Given the description of an element on the screen output the (x, y) to click on. 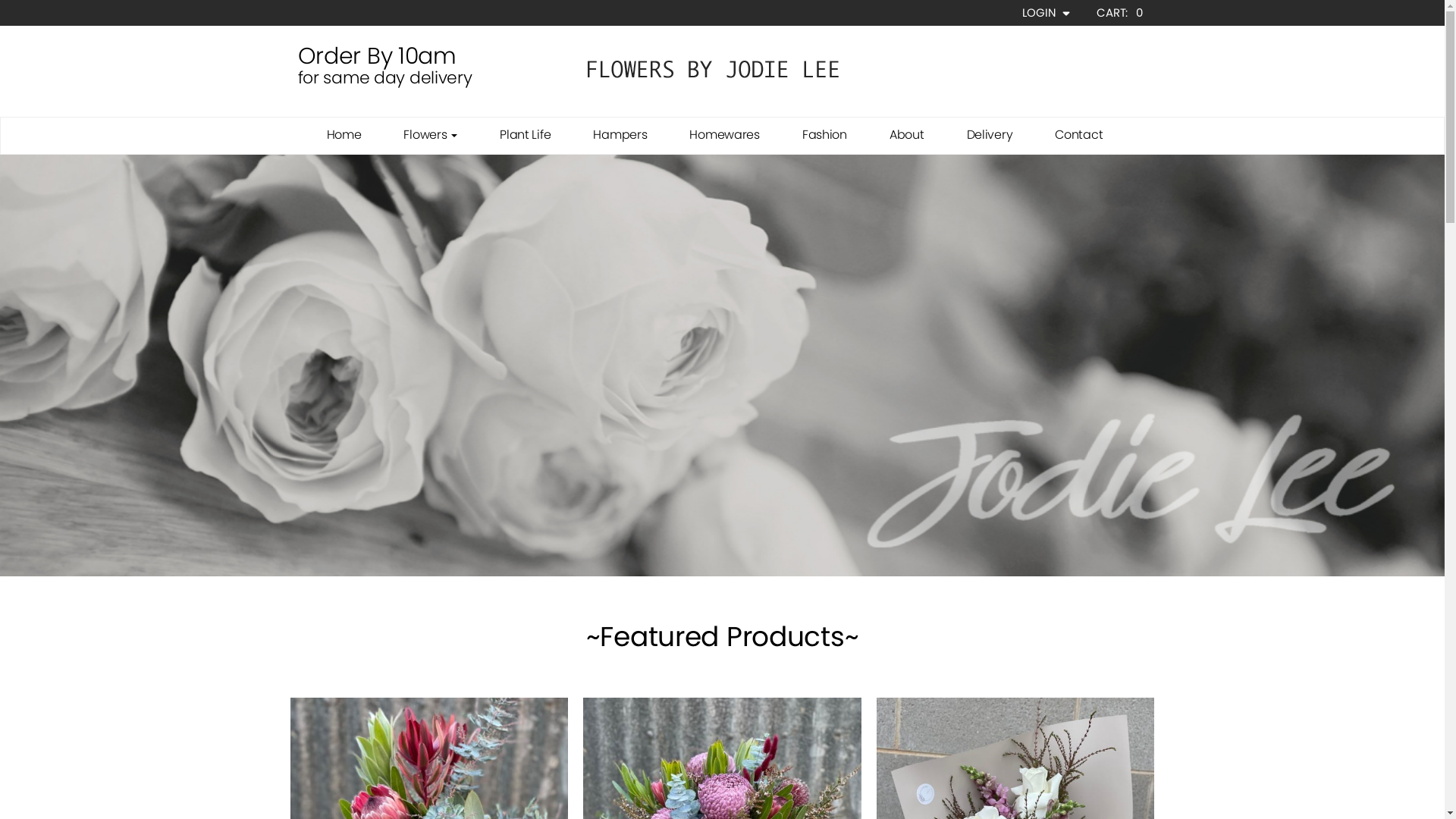
Fashion Element type: text (824, 134)
Contact Element type: text (1078, 134)
About Element type: text (906, 134)
Plant Life Element type: text (524, 134)
Hampers Element type: text (619, 134)
Homewares Element type: text (724, 134)
Delivery Element type: text (989, 134)
CART: 0 Element type: text (1119, 12)
LOGIN Element type: text (1047, 12)
Flowers Element type: text (430, 134)
Home Element type: text (343, 134)
